Given the description of an element on the screen output the (x, y) to click on. 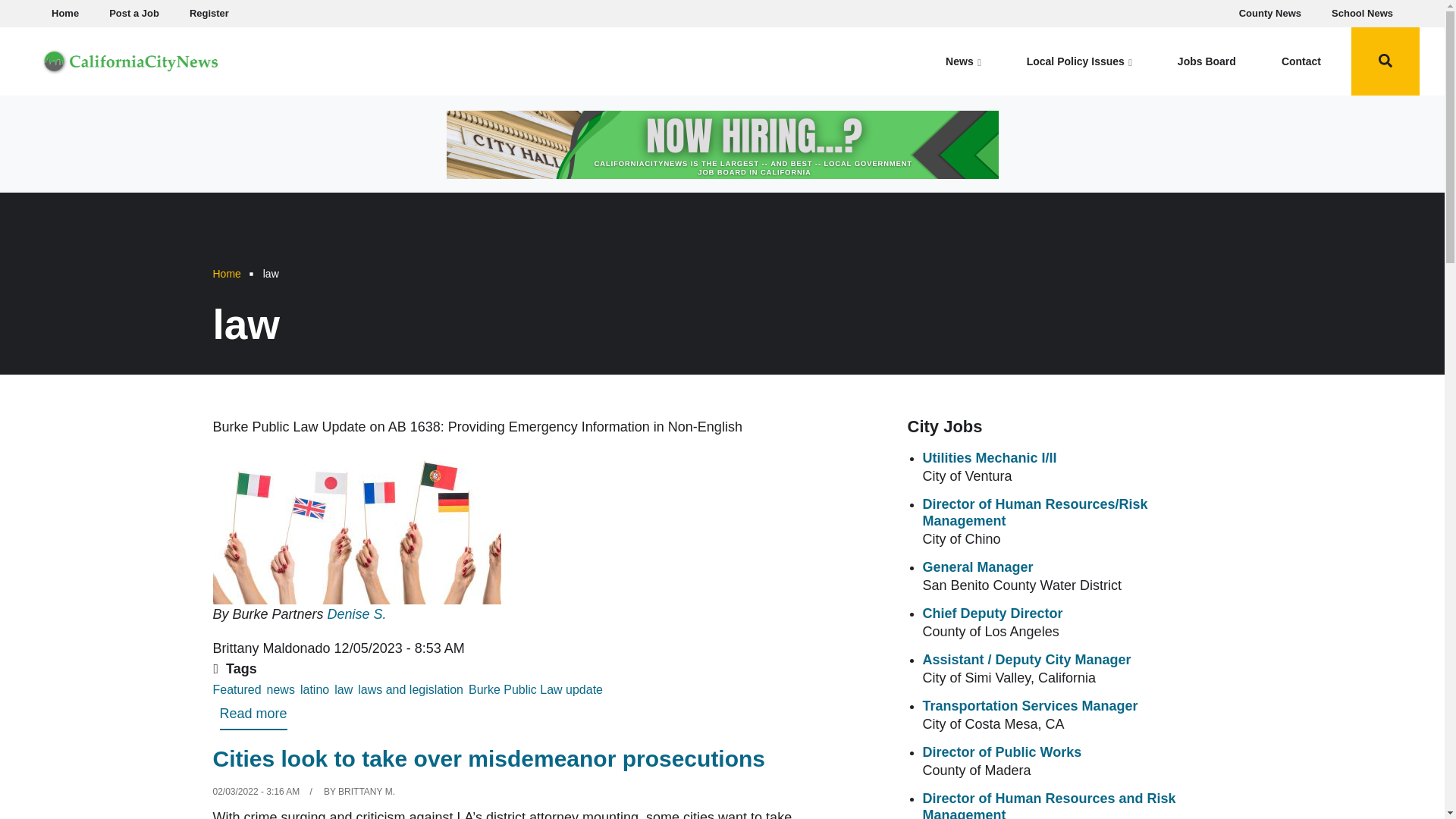
Jobs Board (1206, 61)
County News (1269, 13)
laws and legislation (410, 689)
Denise S. (357, 613)
Burke Public Law update (535, 689)
latino (314, 689)
School News (1361, 13)
Register (208, 13)
Post a Job (134, 13)
Home (130, 59)
news (280, 689)
law (343, 689)
